Given the description of an element on the screen output the (x, y) to click on. 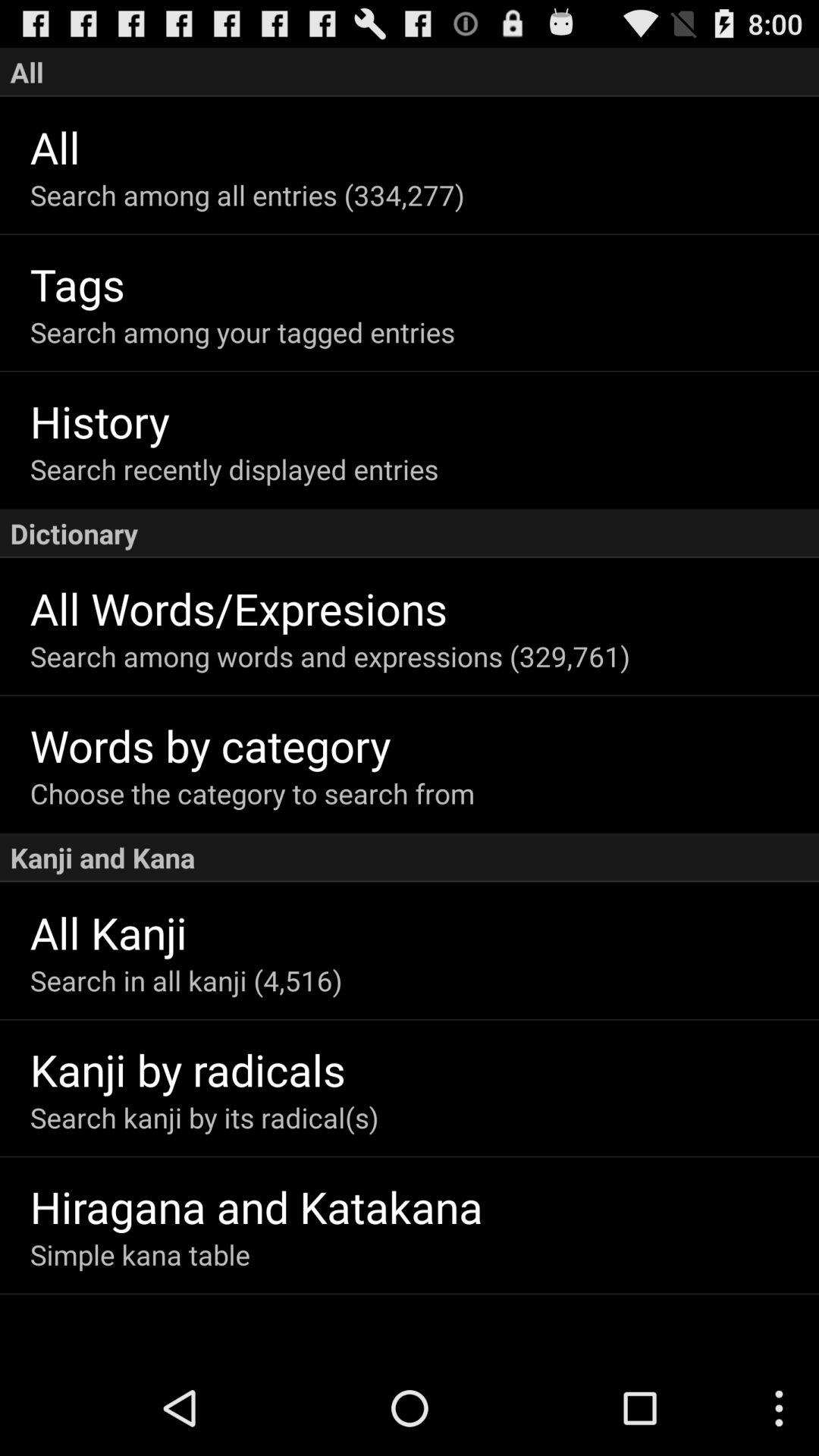
click the all words/expresions (424, 607)
